Given the description of an element on the screen output the (x, y) to click on. 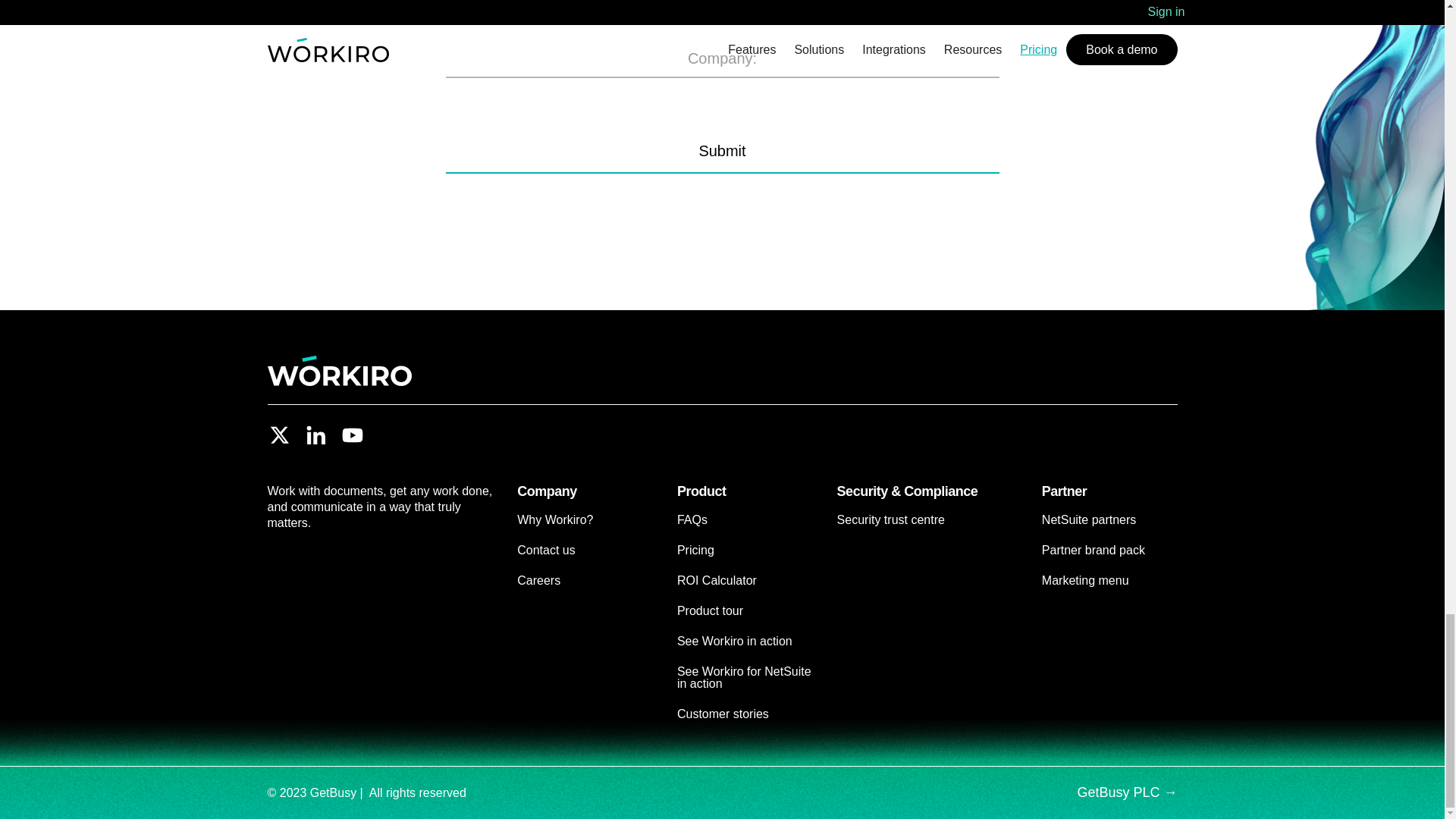
Submit (721, 151)
